Given the description of an element on the screen output the (x, y) to click on. 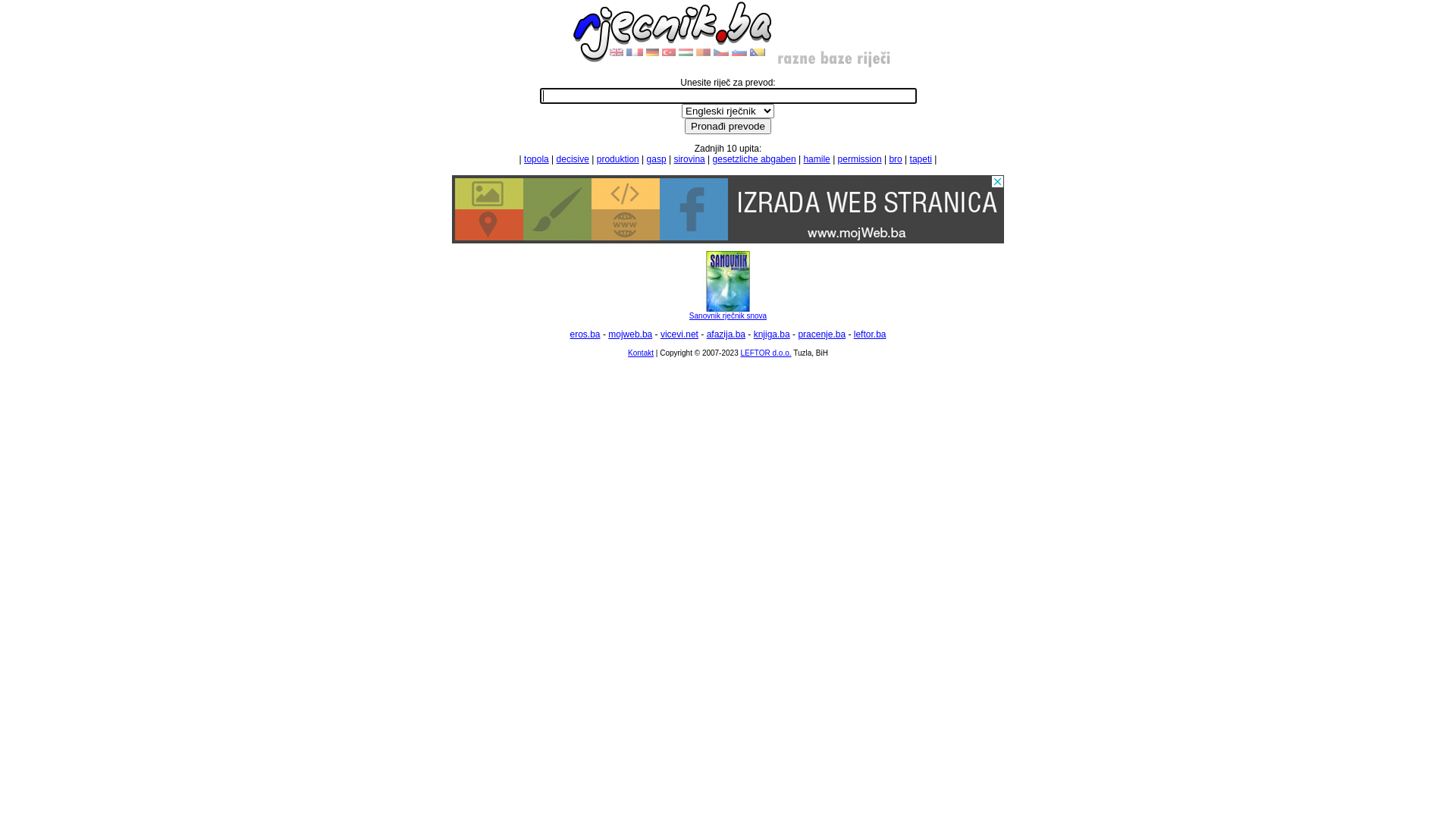
eros.ba Element type: text (585, 334)
Kontakt Element type: text (640, 352)
tapeti Element type: text (920, 158)
pracenje.ba Element type: text (821, 334)
gasp Element type: text (656, 158)
produktion Element type: text (617, 158)
knjiga.ba Element type: text (771, 334)
topola Element type: text (536, 158)
afazija.ba Element type: text (725, 334)
sirovina Element type: text (688, 158)
permission Element type: text (859, 158)
decisive Element type: text (572, 158)
3rd party ad content Element type: hover (727, 209)
gesetzliche abgaben Element type: text (754, 158)
vicevi.net Element type: text (679, 334)
mojweb.ba Element type: text (630, 334)
hamile Element type: text (816, 158)
leftor.ba Element type: text (869, 334)
LEFTOR d.o.o. Element type: text (765, 352)
bro Element type: text (894, 158)
